Given the description of an element on the screen output the (x, y) to click on. 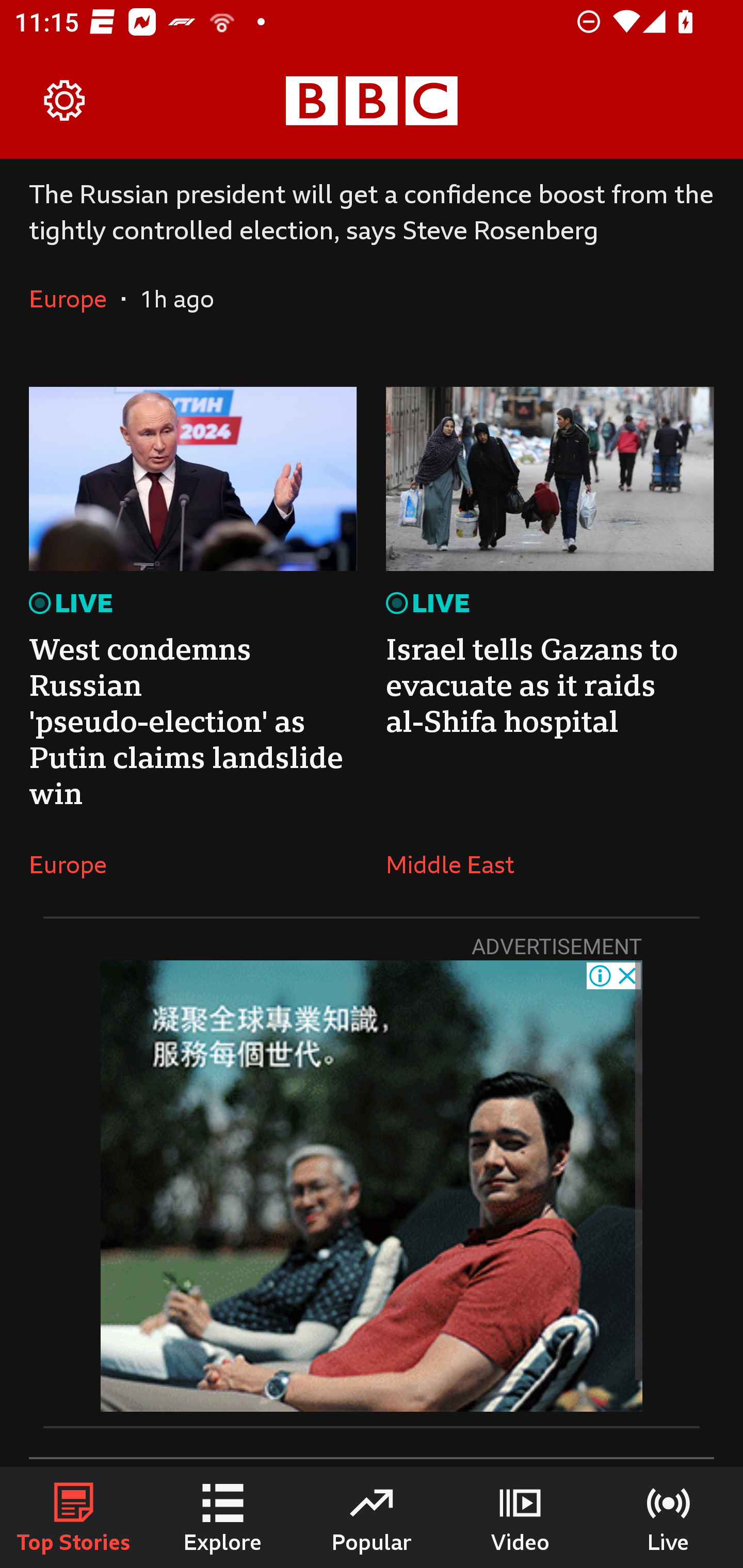
Settings (64, 100)
Europe In the section Europe (74, 298)
Europe In the section Europe (74, 864)
Middle East In the section Middle East (457, 864)
Advertisement (371, 1185)
Explore (222, 1517)
Popular (371, 1517)
Video (519, 1517)
Live (668, 1517)
